Given the description of an element on the screen output the (x, y) to click on. 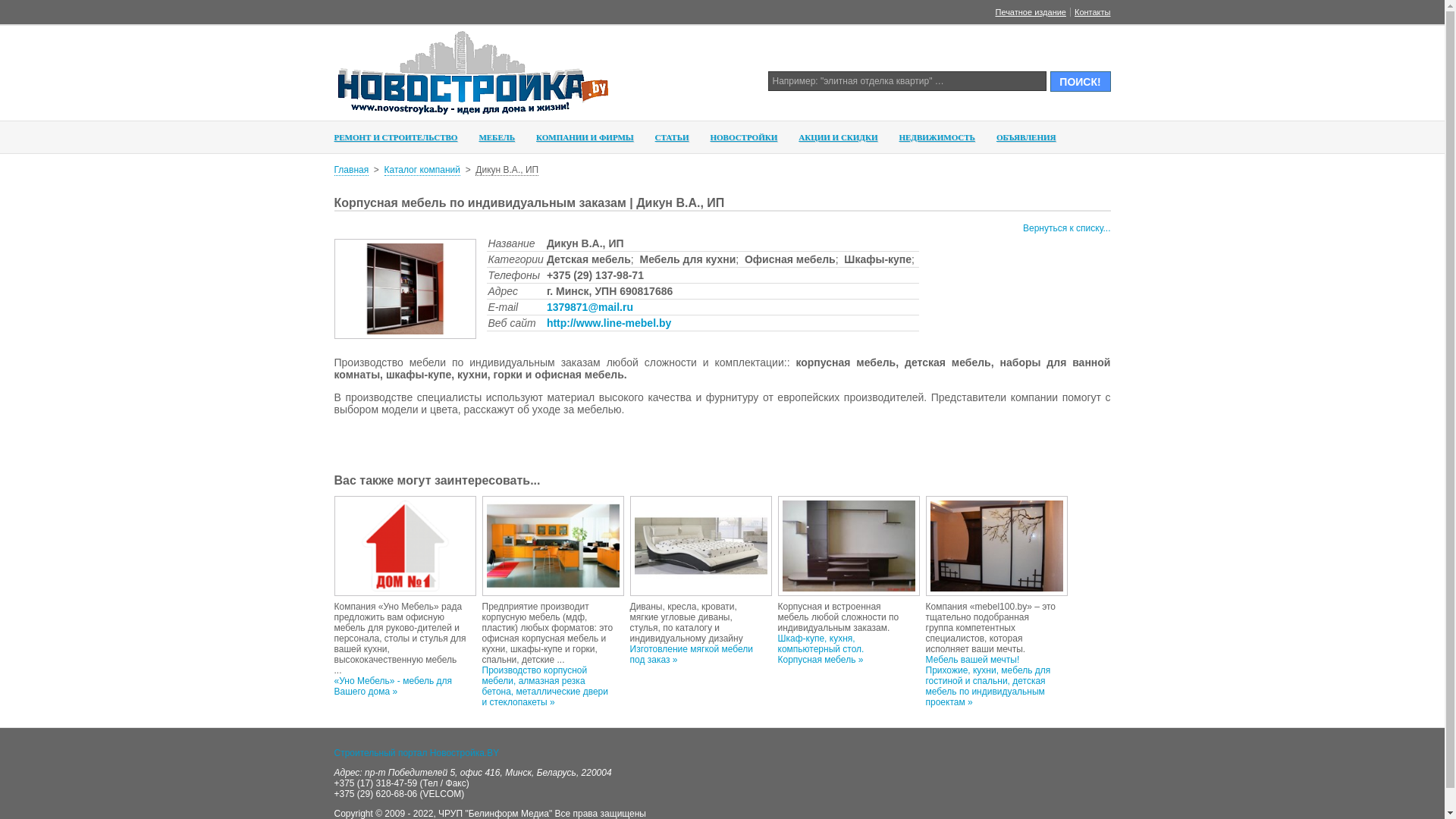
http://www.line-mebel.by Element type: text (608, 322)
1379871@mail.ru Element type: text (589, 307)
